Given the description of an element on the screen output the (x, y) to click on. 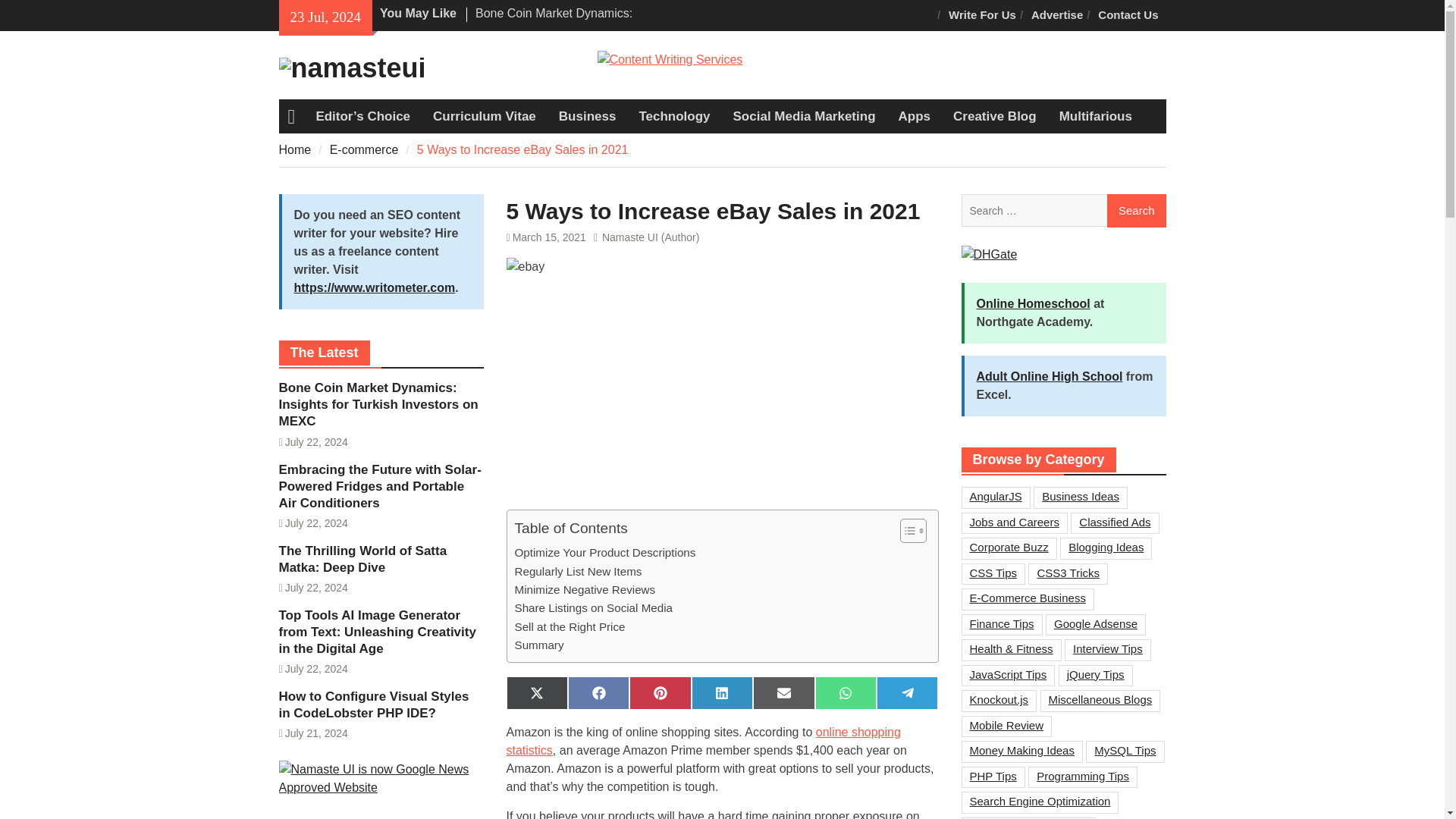
Apps (914, 116)
Search (1136, 210)
Apps (914, 116)
Home (295, 149)
WritoMeter - Best Content Writing Agency (669, 58)
Contact Us (1128, 15)
Social Media Marketing (804, 116)
Share on WhatsApp (845, 693)
Contact Us (1128, 15)
Multifarious (1095, 116)
Search (1136, 210)
Business (587, 116)
Creative Blog (995, 116)
